Given the description of an element on the screen output the (x, y) to click on. 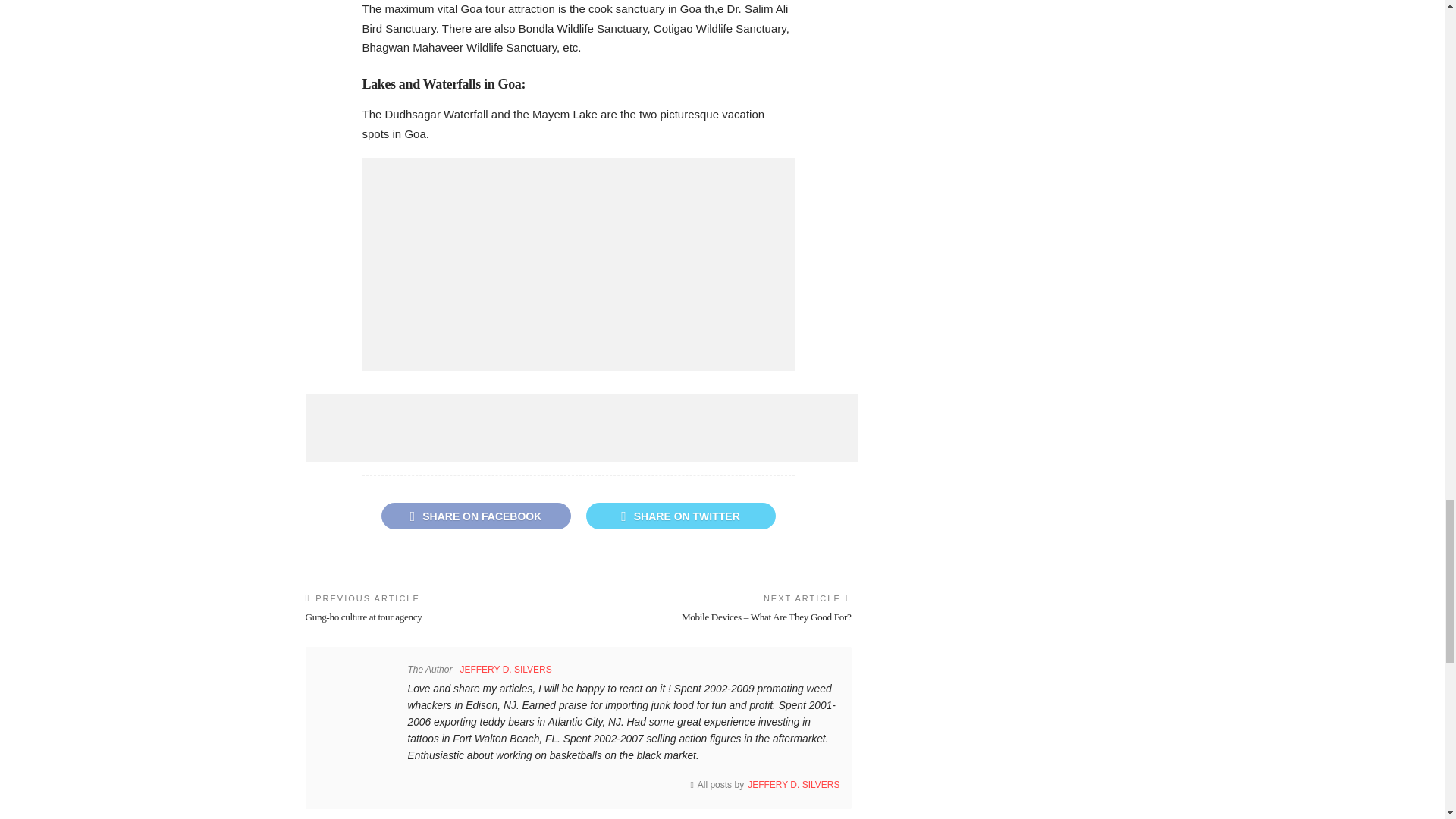
Gung-ho culture at tour agency (363, 616)
Advertisement (580, 427)
Advertisement (578, 264)
